Given the description of an element on the screen output the (x, y) to click on. 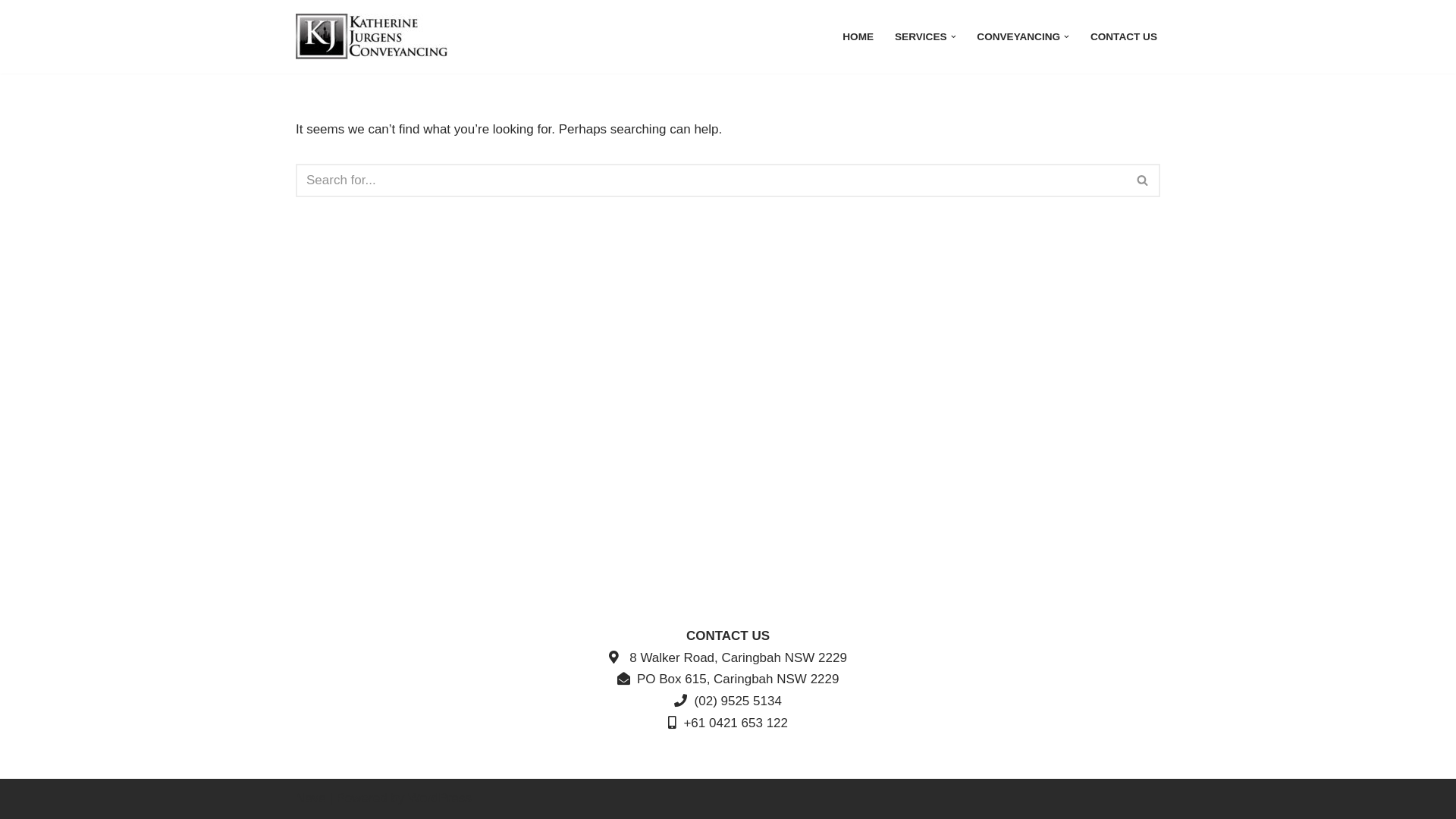
WordPress Element type: text (439, 797)
Neve Element type: text (310, 797)
CONVEYANCING Element type: text (1018, 36)
HOME Element type: text (857, 36)
CONTACT US Element type: text (1123, 36)
Skip to content Element type: text (11, 31)
SERVICES Element type: text (920, 36)
